Given the description of an element on the screen output the (x, y) to click on. 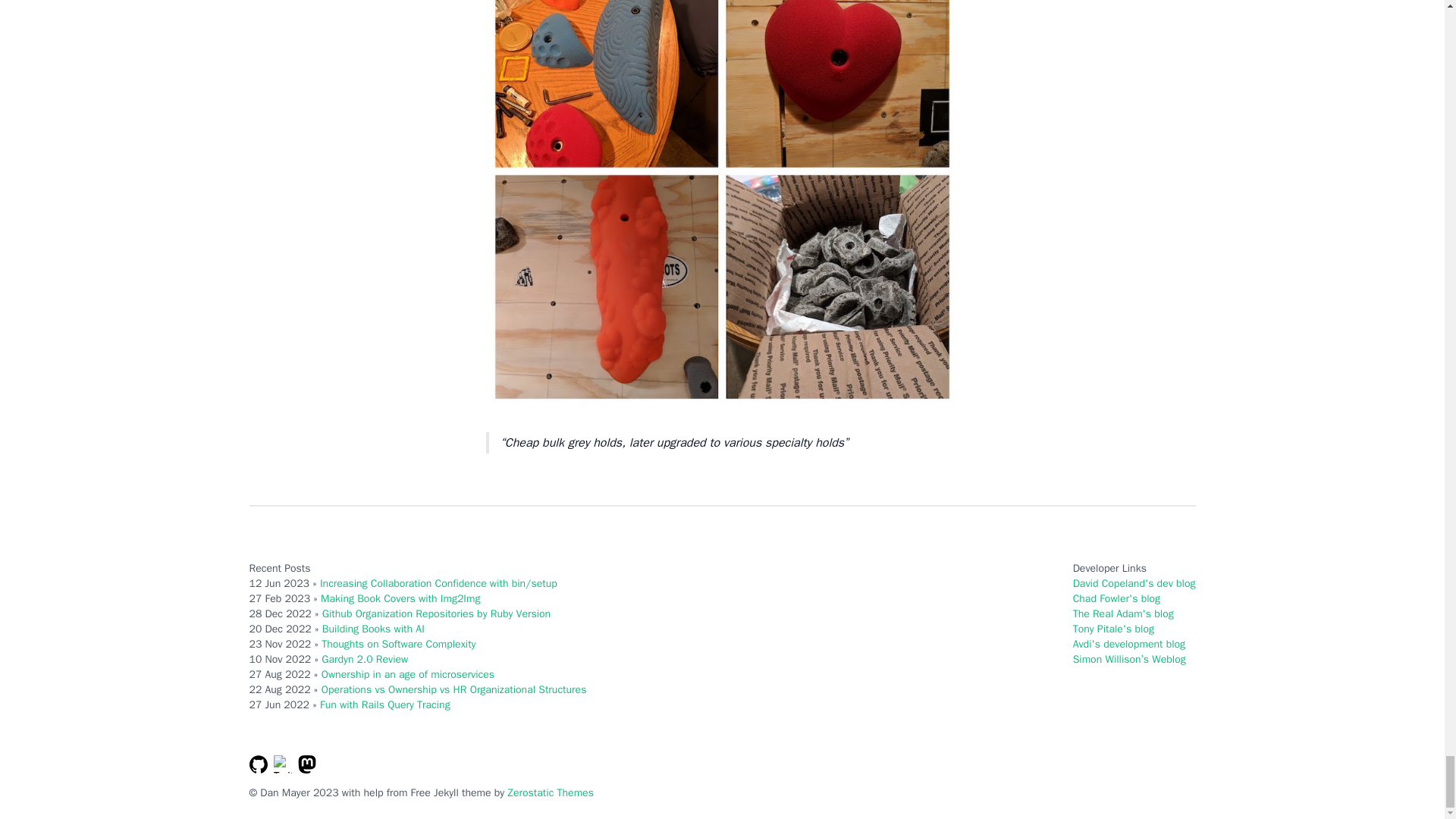
Building Books with AI (373, 628)
Making Book Covers with Img2Img (400, 598)
Tony Pitale's blog (1113, 628)
Ownership in an age of microservices (408, 674)
Avdi's development blog (1129, 644)
David Copeland's dev blog (1134, 583)
Chad Fowler's blog (1116, 598)
Fun with Rails Query Tracing (384, 704)
Zerostatic Themes (550, 792)
Github Organization Repositories by Ruby Version (435, 613)
